Given the description of an element on the screen output the (x, y) to click on. 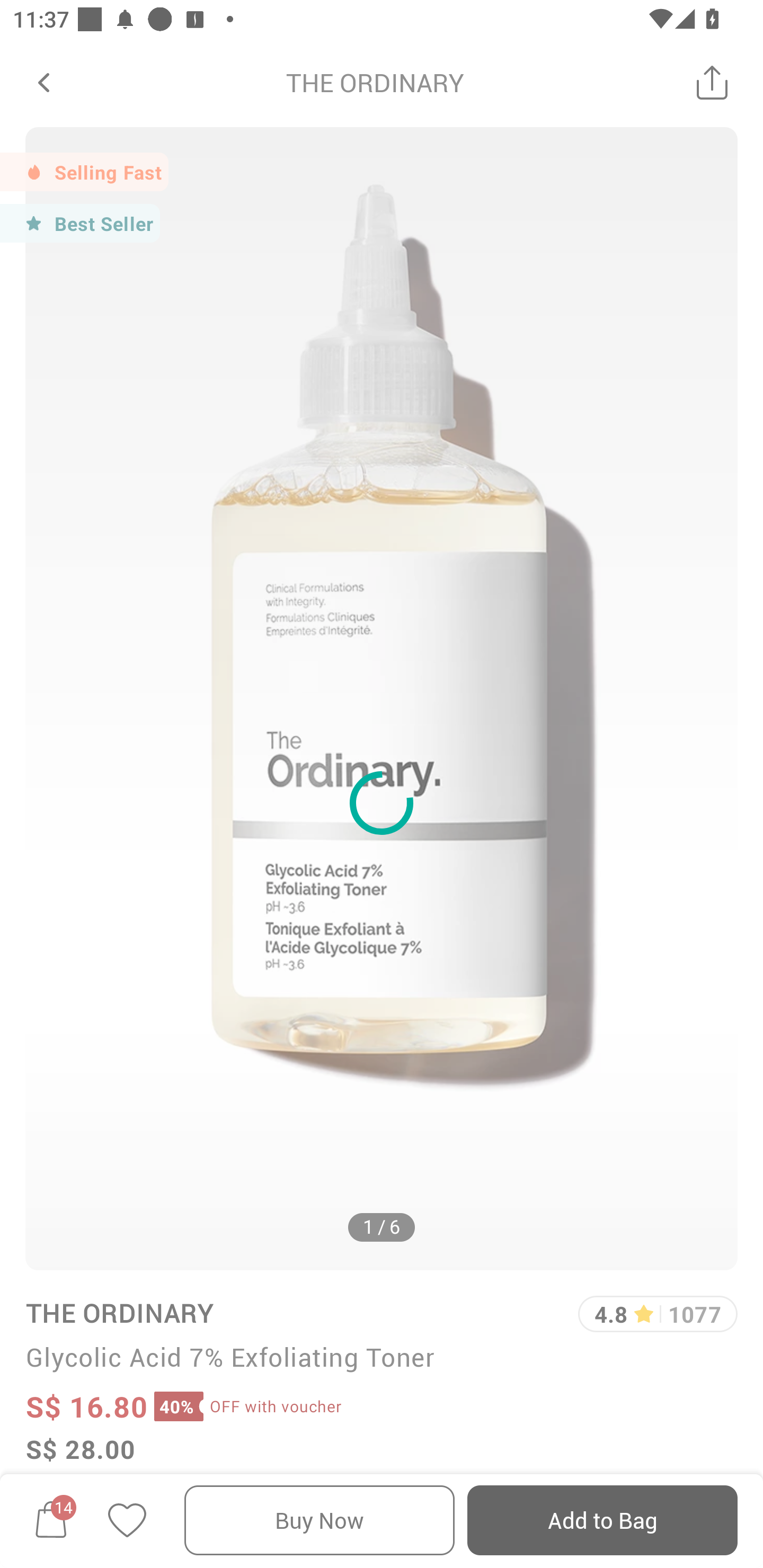
THE ORDINARY (375, 82)
Share this Product (711, 82)
THE ORDINARY (119, 1312)
4.8 1077 (657, 1313)
Buy Now (319, 1519)
Add to Bag (601, 1519)
14 (50, 1520)
